Given the description of an element on the screen output the (x, y) to click on. 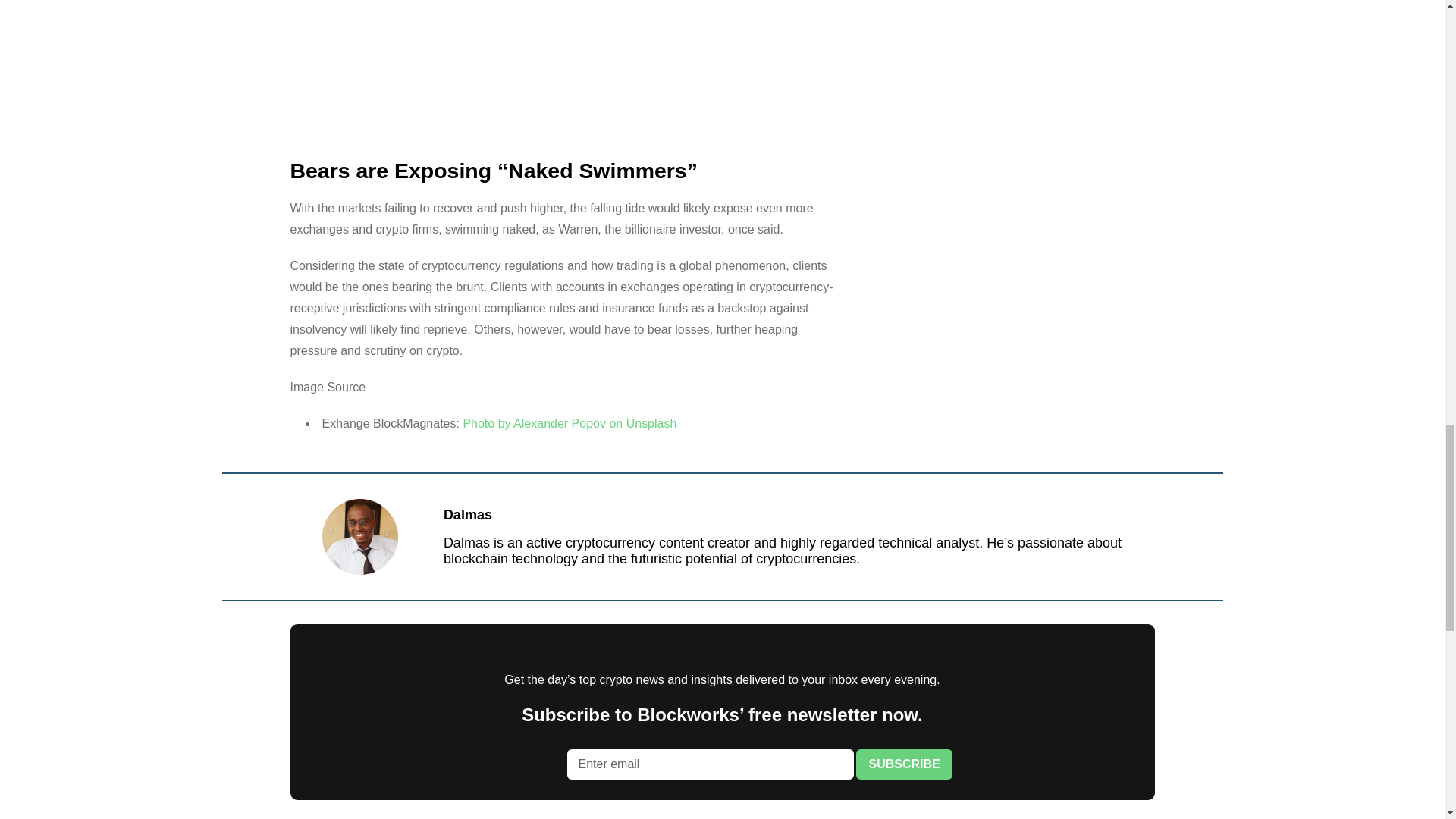
Crypto Report: Coinbase's Hiring Freeze (562, 73)
